Given the description of an element on the screen output the (x, y) to click on. 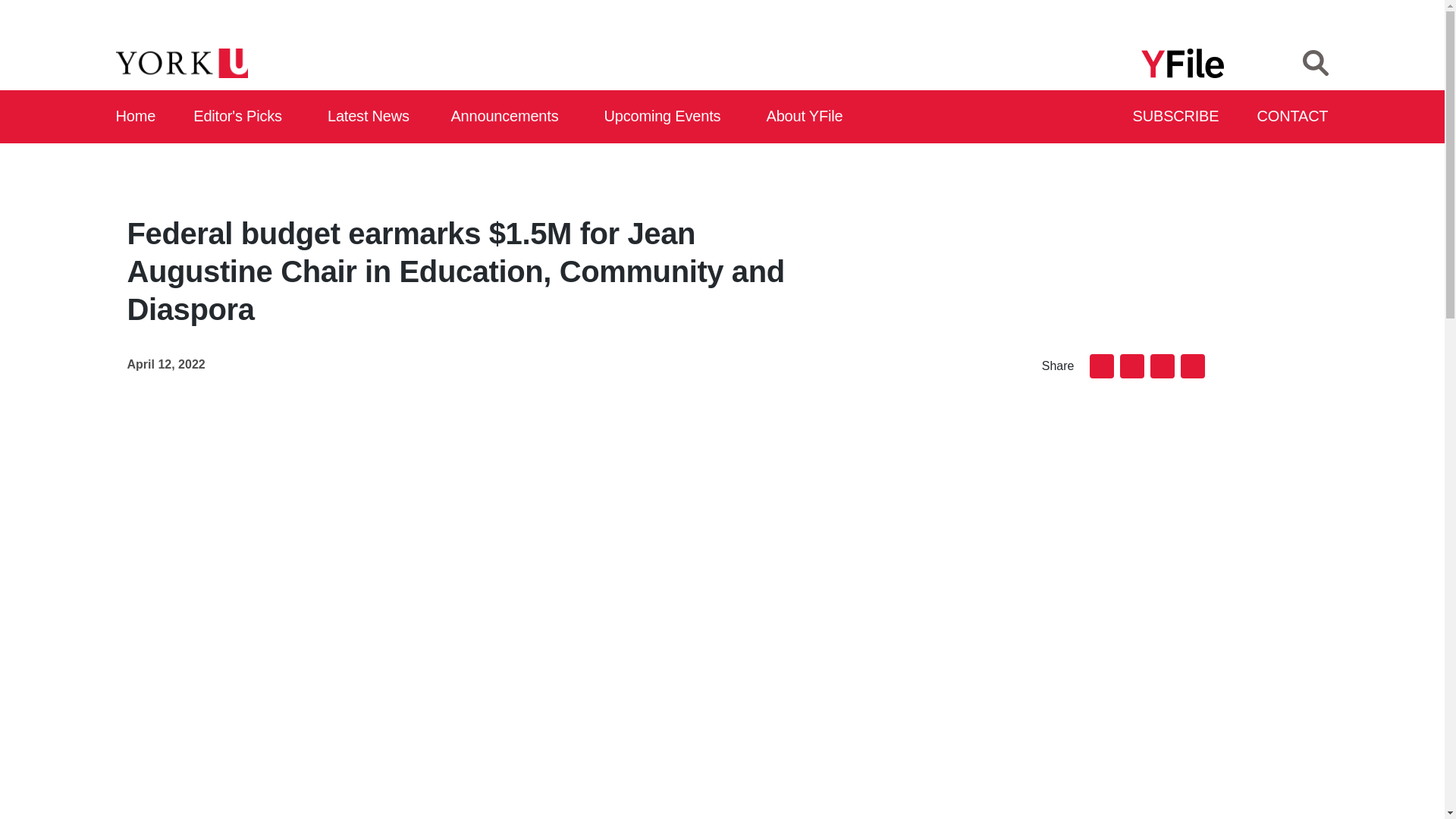
LinkedIn (1191, 367)
Upcoming Events (667, 116)
SUBSCRIBE (1176, 116)
Twitter (1161, 367)
Home (136, 116)
About YFile (806, 116)
Editor's Picks (242, 116)
Facebook (1131, 367)
Facebook (1131, 367)
Announcements (508, 116)
Contact (1293, 116)
CONTACT (1293, 116)
About YFile (806, 116)
Latest News (370, 116)
Email (1101, 367)
